Given the description of an element on the screen output the (x, y) to click on. 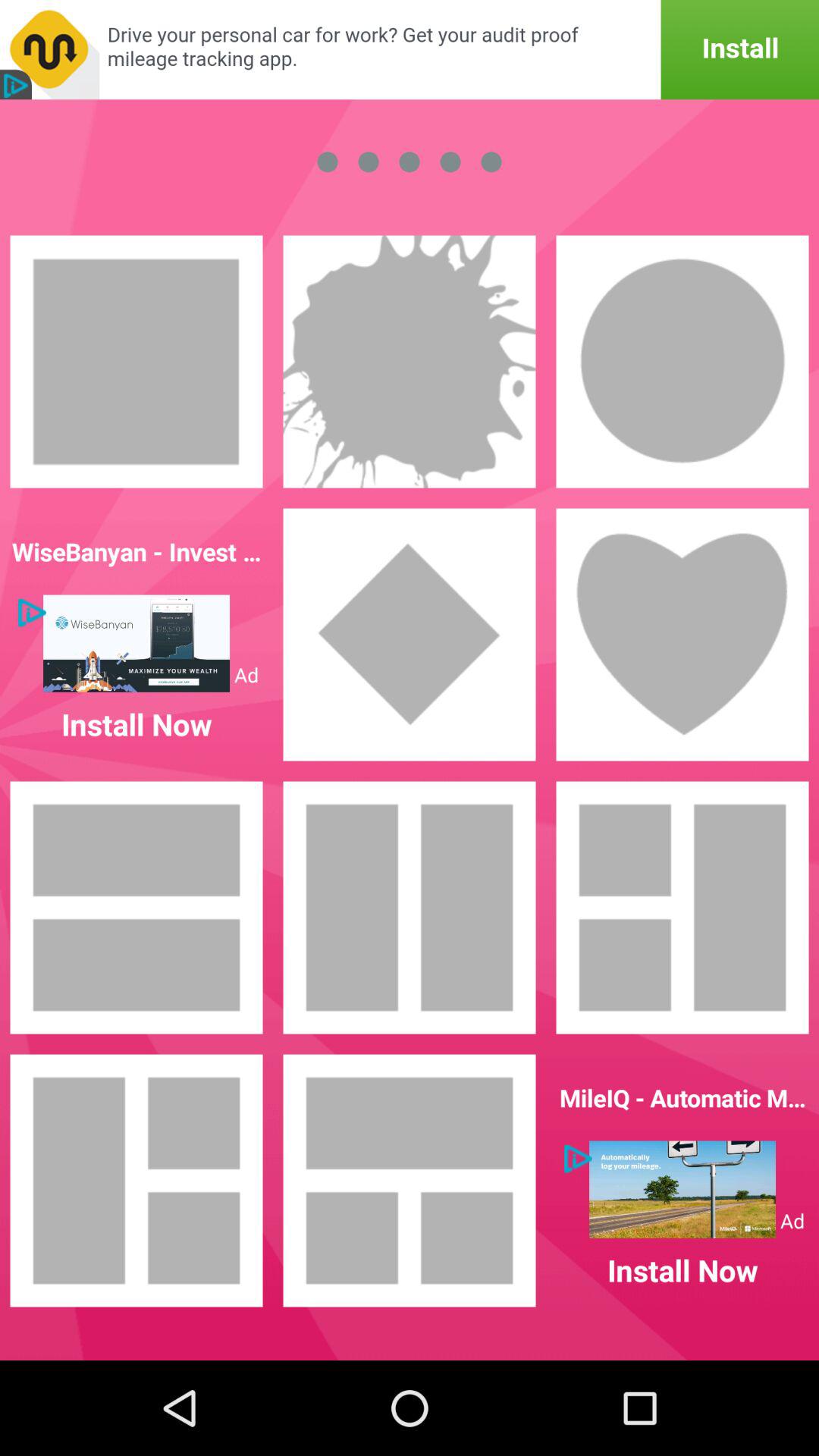
open advertisement (409, 49)
